Given the description of an element on the screen output the (x, y) to click on. 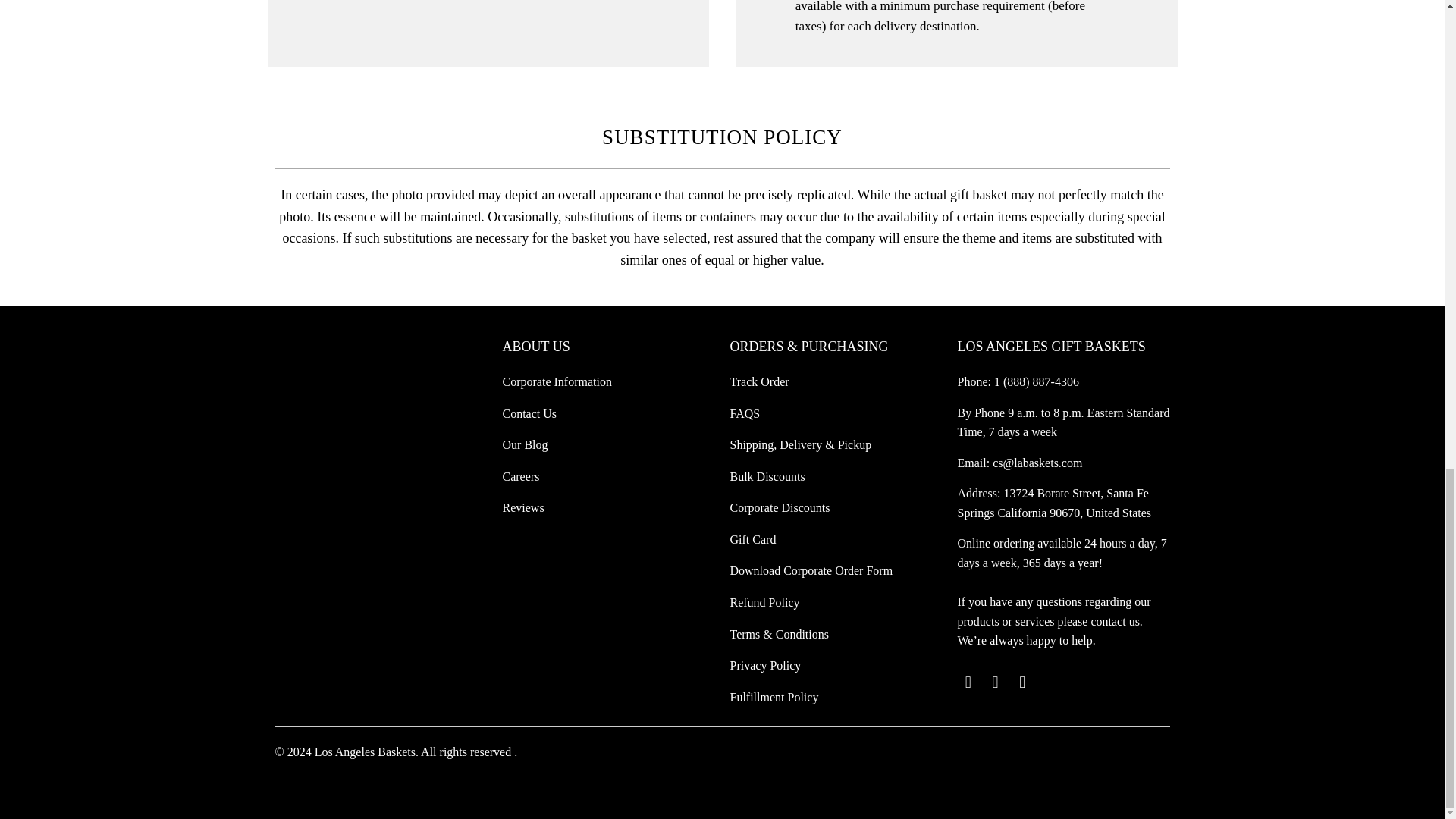
Los Angeles Baskets on Twitter (967, 682)
Los Angeles Baskets on Facebook (995, 682)
Los Angeles Baskets on Instagram (1022, 682)
